Given the description of an element on the screen output the (x, y) to click on. 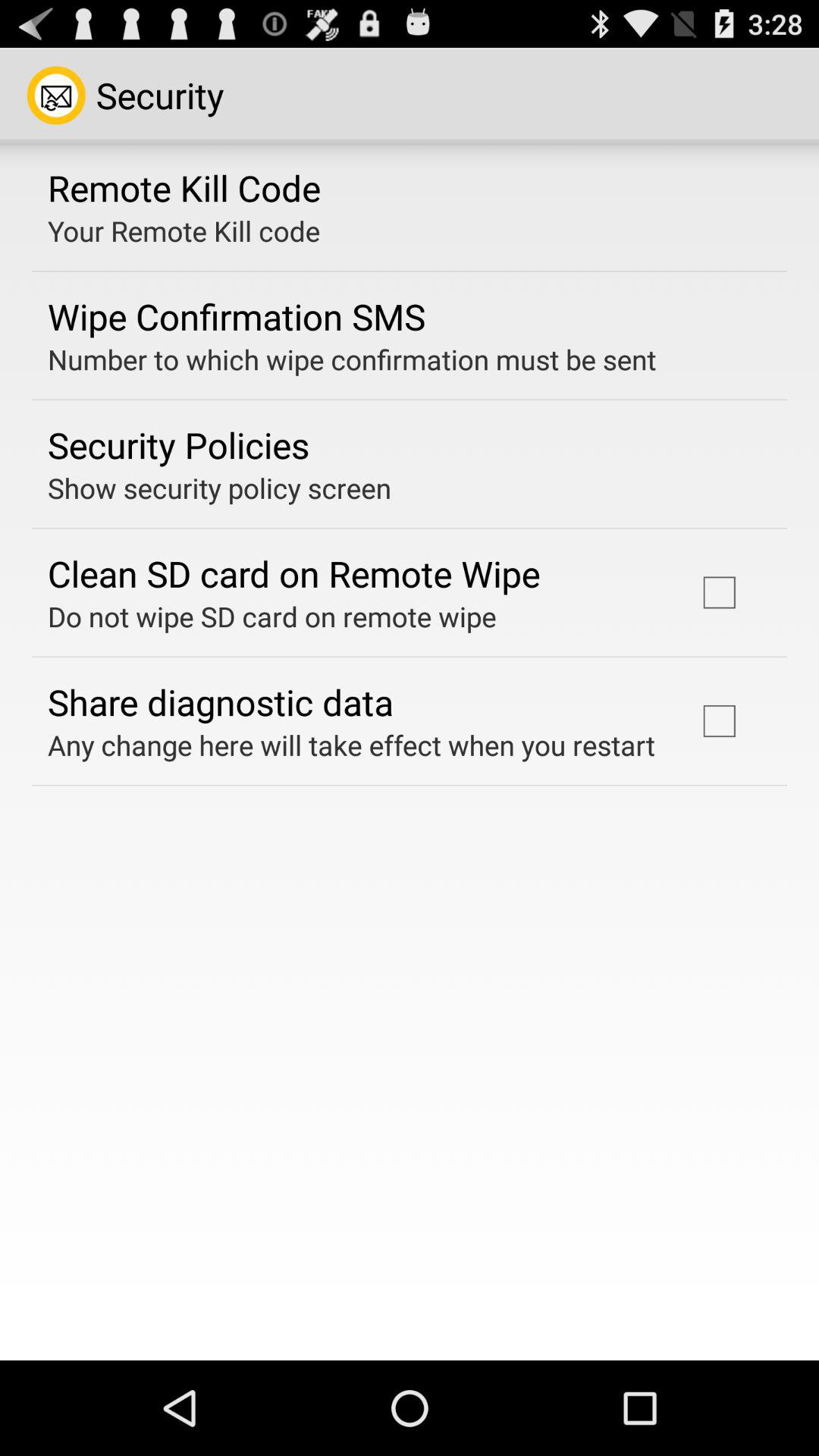
press icon below security policies item (219, 487)
